Given the description of an element on the screen output the (x, y) to click on. 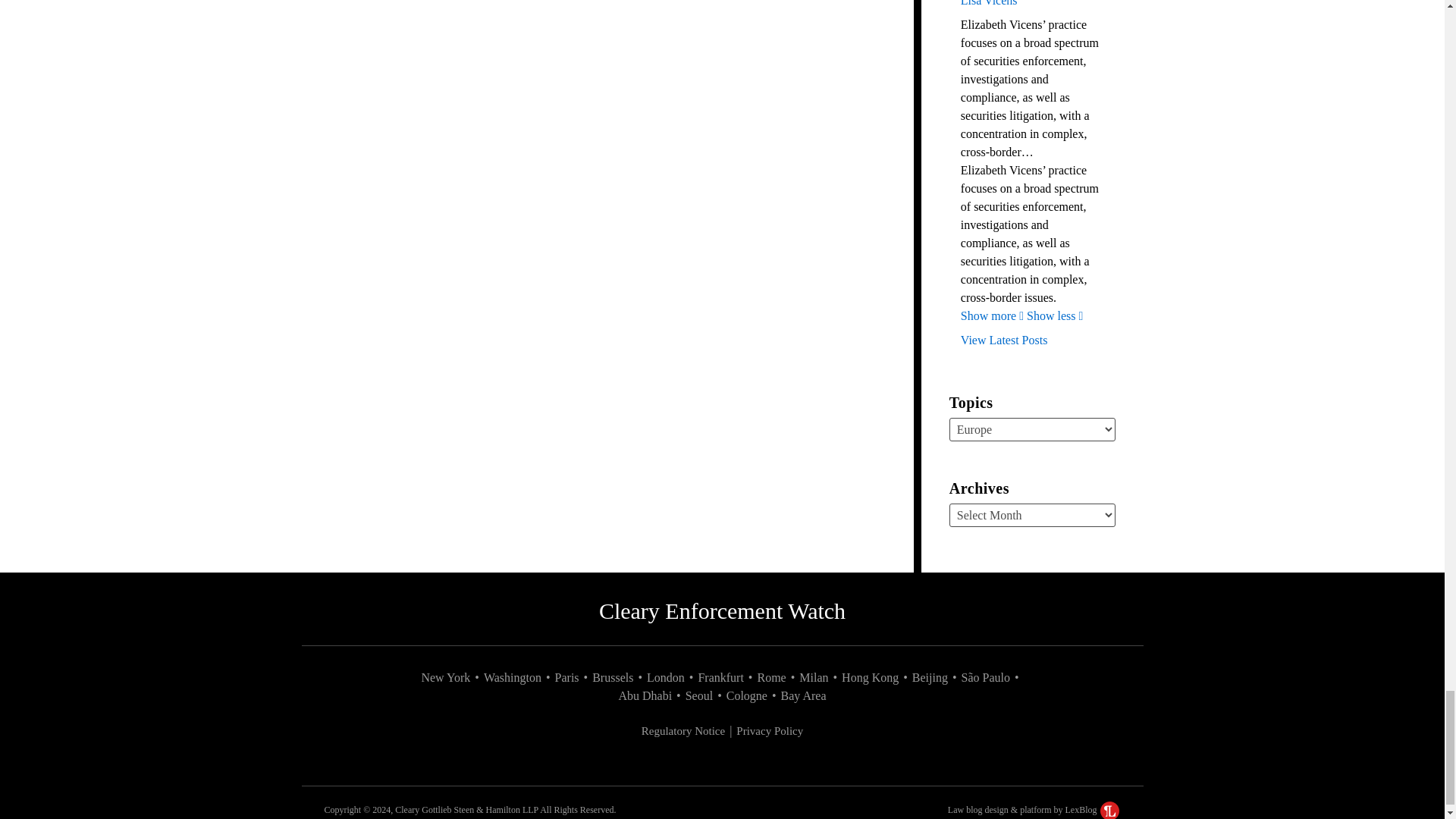
LexBlog Logo (1109, 810)
